Given the description of an element on the screen output the (x, y) to click on. 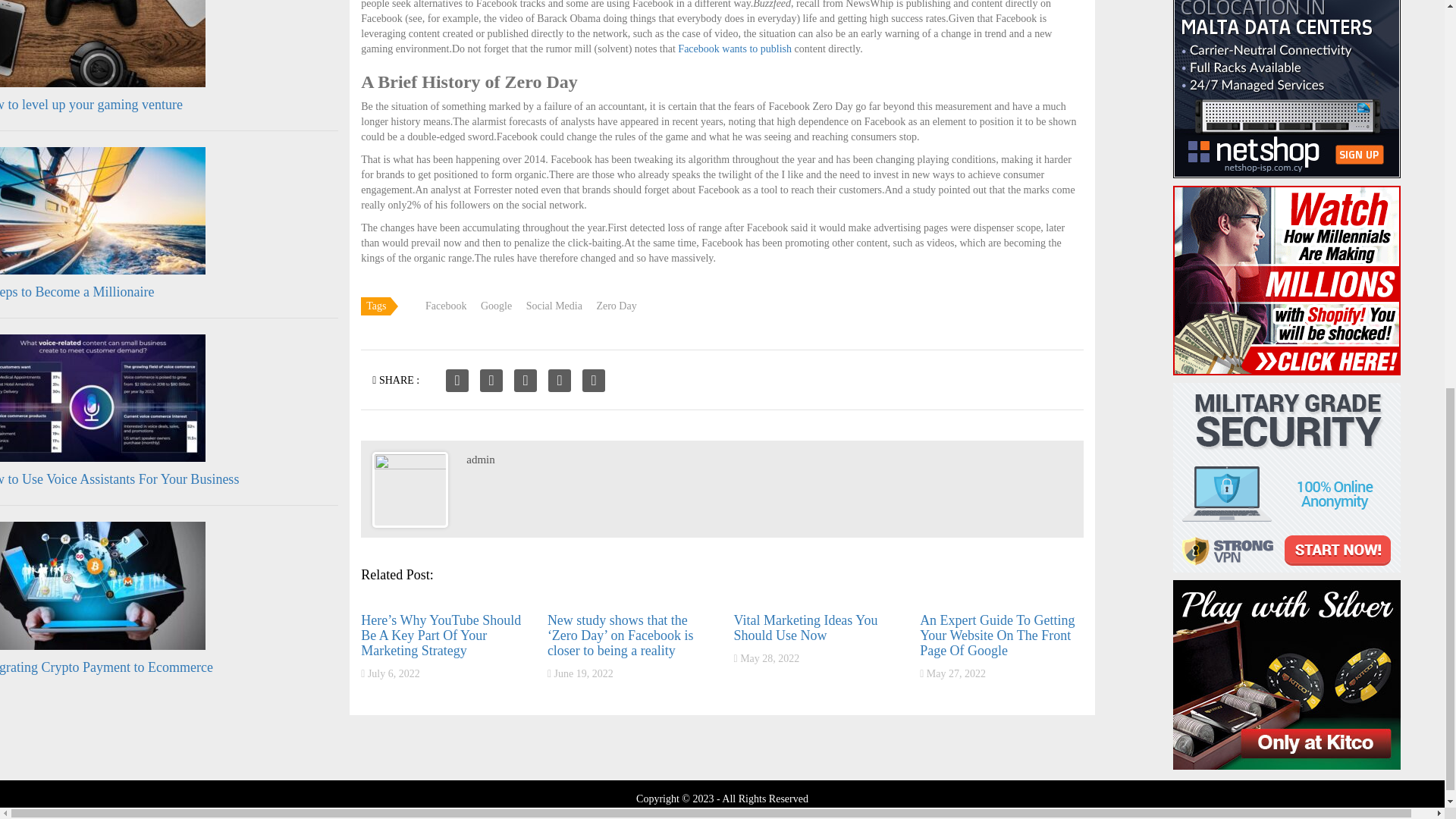
7 Steps to Become a Millionaire (77, 291)
Posts by admin (480, 459)
Share on Facebook (456, 380)
How to level up your gaming venture (91, 104)
How to Use Voice Assistants For Your Business (119, 478)
Integrating Crypto Payment to Ecommerce (106, 667)
